Given the description of an element on the screen output the (x, y) to click on. 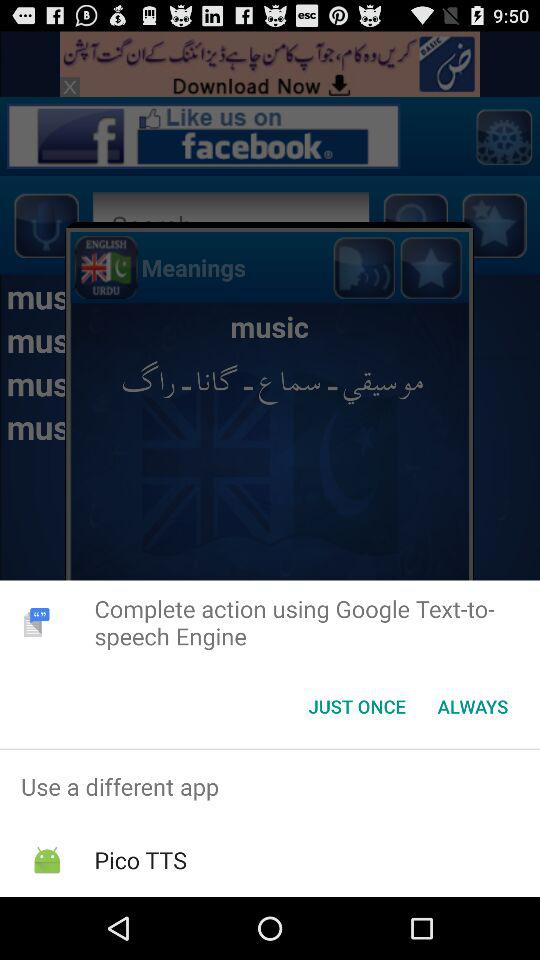
jump until use a different app (270, 786)
